Given the description of an element on the screen output the (x, y) to click on. 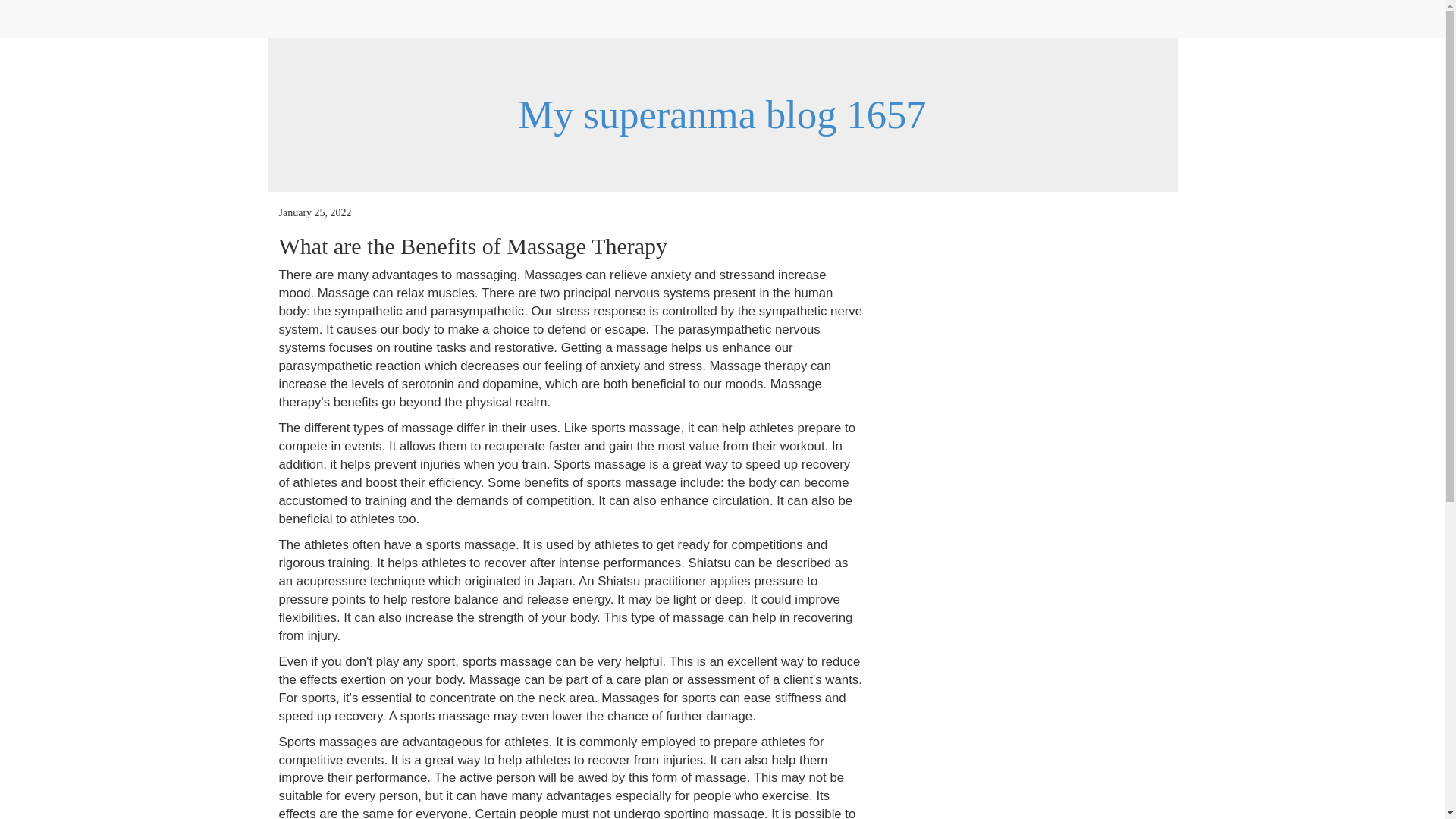
My superanma blog 1657 (722, 114)
